Given the description of an element on the screen output the (x, y) to click on. 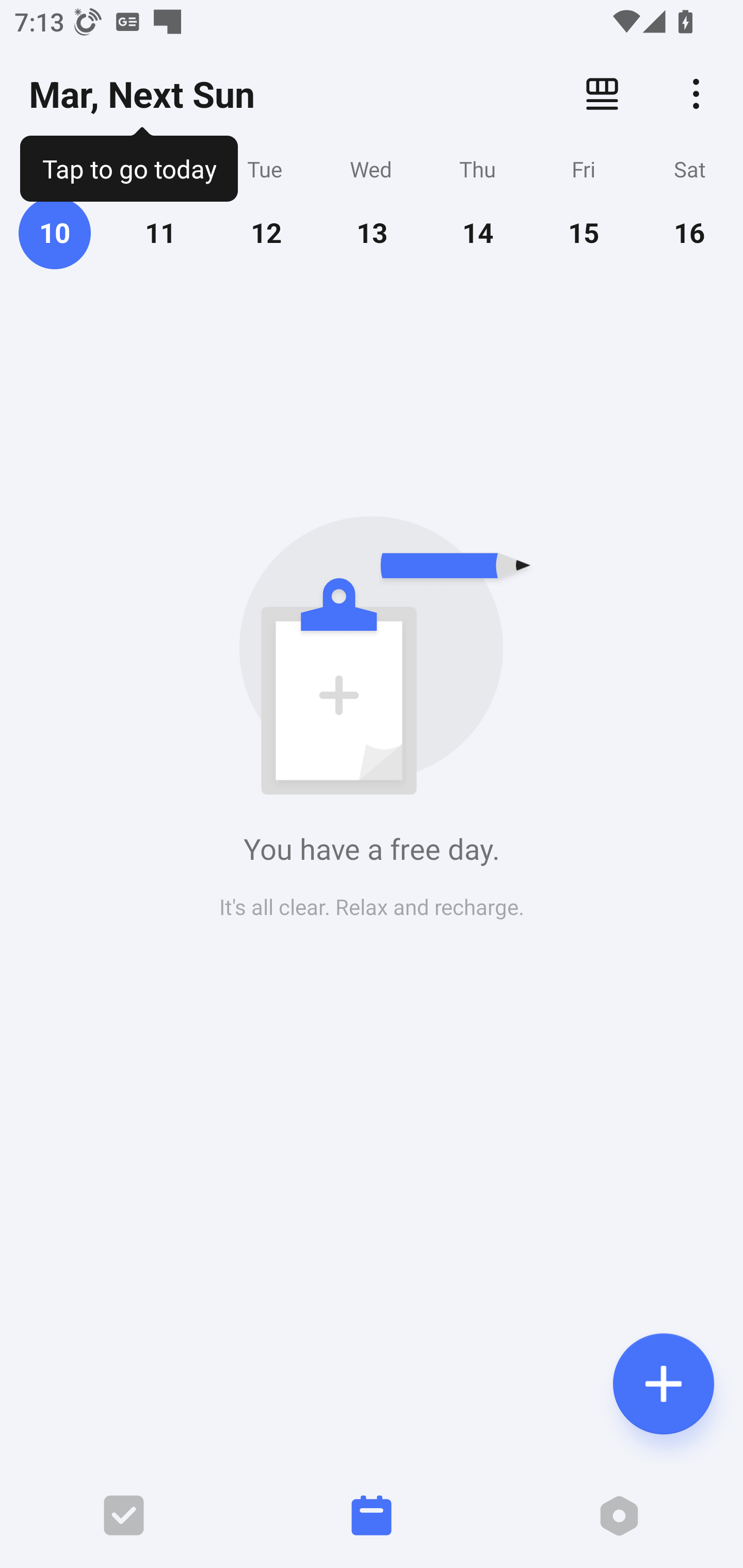
Mar, Next Sun (141, 93)
Tap to go today (128, 164)
